Given the description of an element on the screen output the (x, y) to click on. 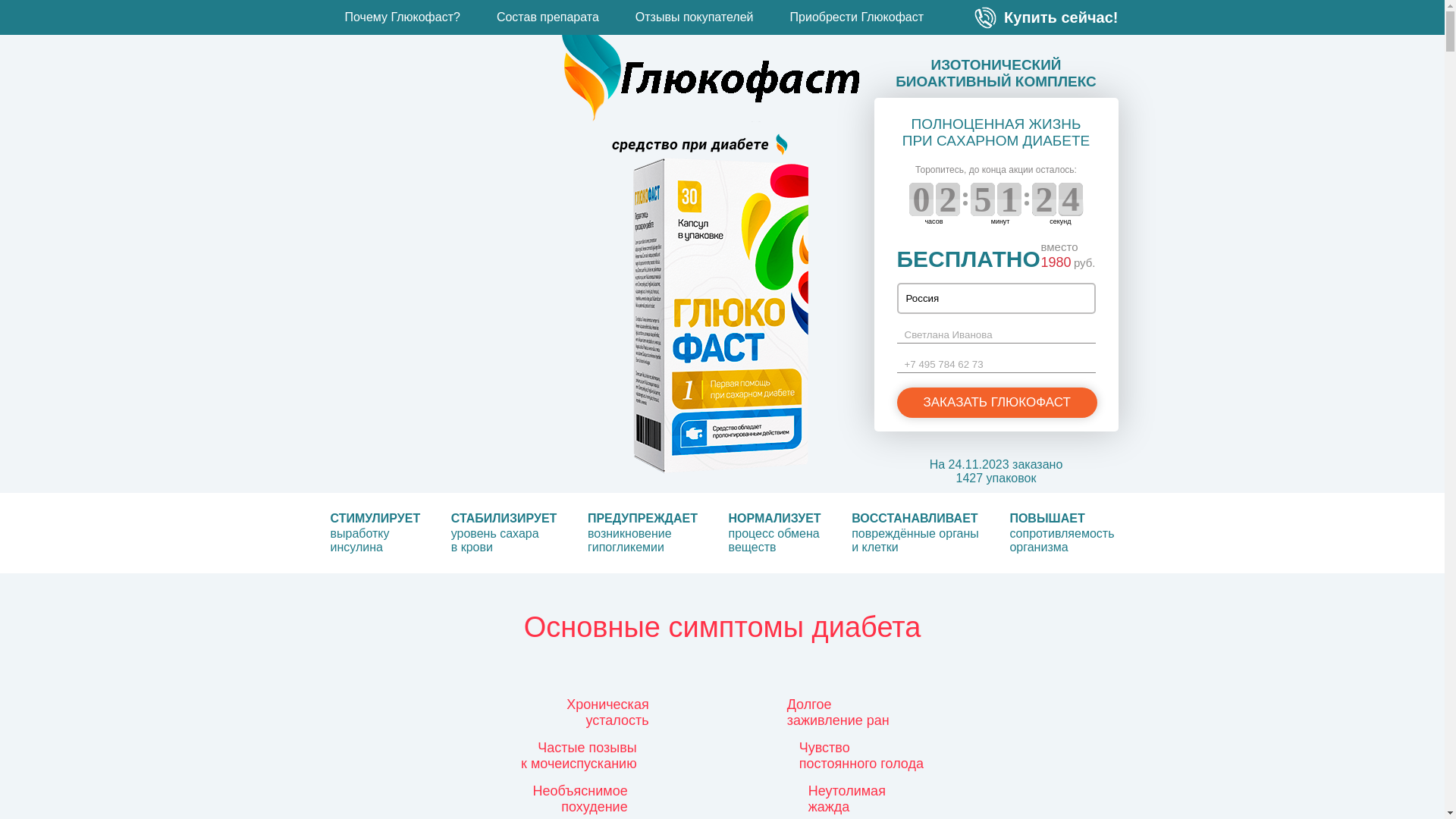
1
1 Element type: text (1009, 199)
9
9 Element type: text (921, 199)
6 Element type: text (1070, 199)
4
4 Element type: text (982, 199)
1
1 Element type: text (947, 199)
4 Element type: text (1044, 199)
